Given the description of an element on the screen output the (x, y) to click on. 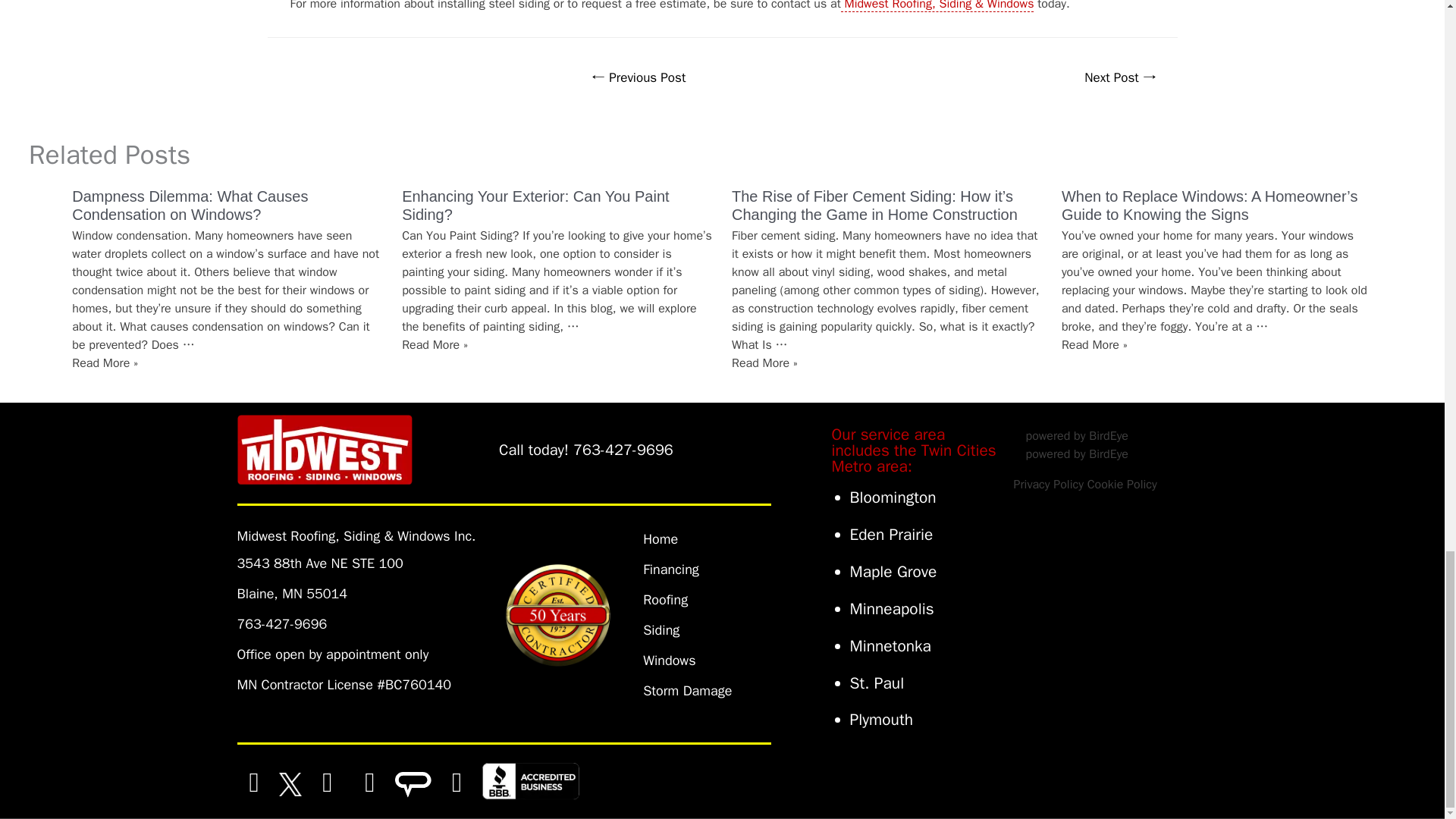
Enhancing Your Exterior: Can You Paint Siding? (534, 205)
Cookie Policy  (1122, 484)
Dampness Dilemma: What Causes Condensation on Windows? (189, 205)
Privacy Policy  (1048, 484)
